Given the description of an element on the screen output the (x, y) to click on. 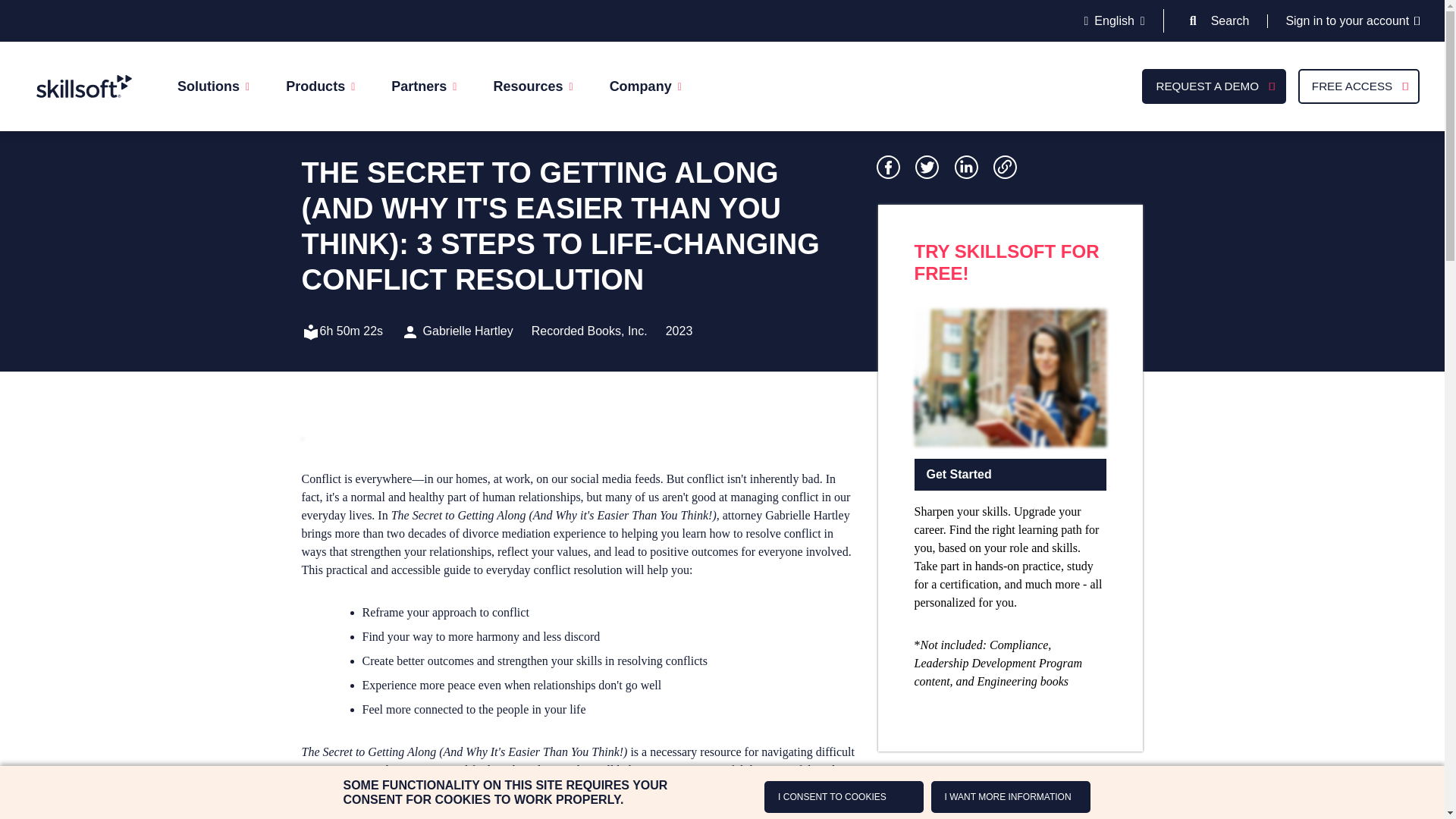
Open Search Dialog (1192, 20)
Sign in to your account (1352, 20)
I WANT MORE INFORMATION (1010, 797)
I CONSENT TO COOKIES (843, 797)
